Given the description of an element on the screen output the (x, y) to click on. 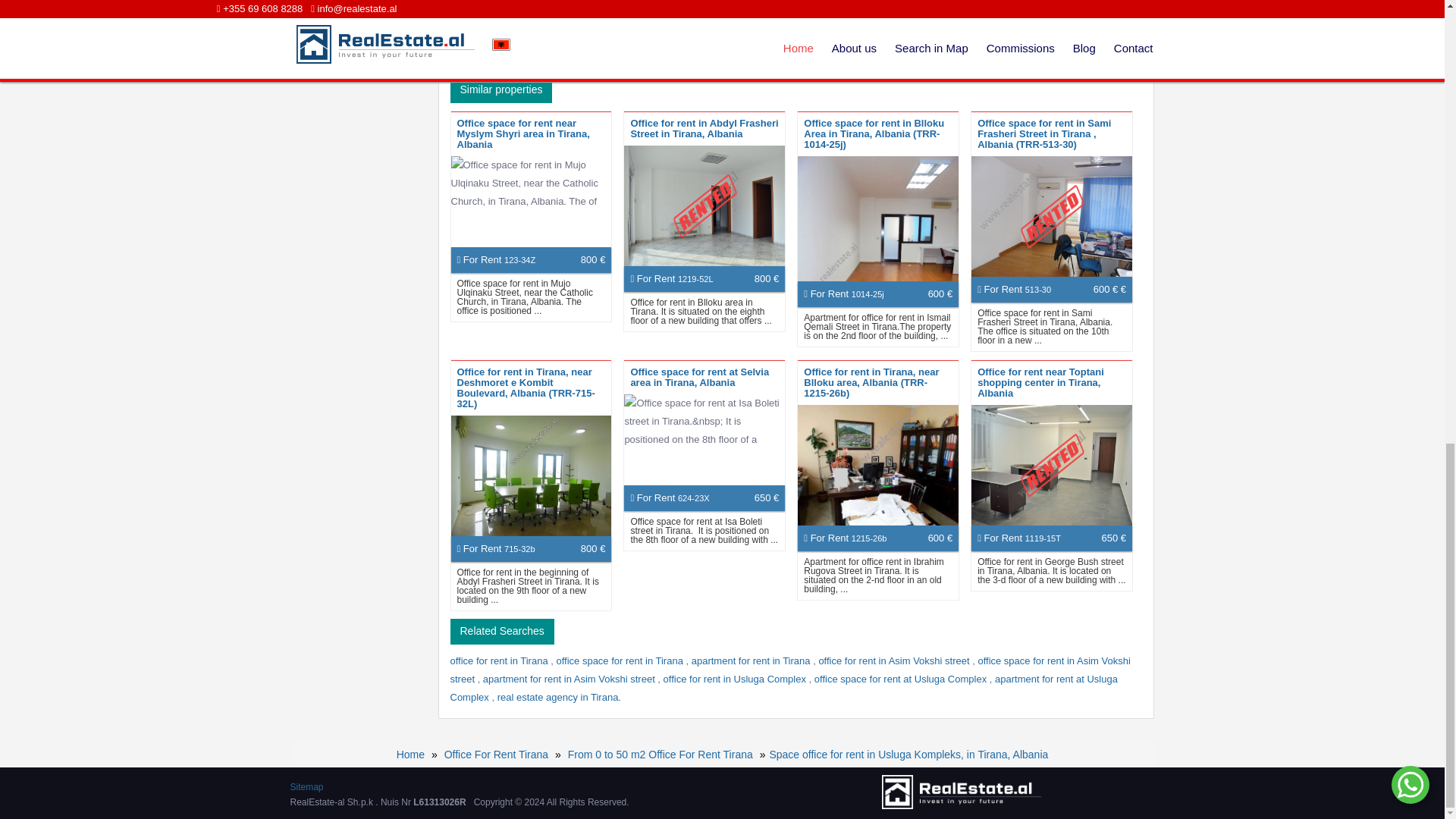
office for rent in Tirana (500, 660)
Office space for rent at Selvia area in Tirana, Albania (699, 377)
Send message (1018, 56)
office for rent in Asim Vokshi street (895, 660)
A JS library for interactive maps (502, 61)
office space for rent in Tirana (620, 660)
apartment for rent in Tirana (751, 660)
apartment for rent in Asim Vokshi street (570, 678)
OpenStreetMap (597, 61)
Send message (1018, 56)
